Given the description of an element on the screen output the (x, y) to click on. 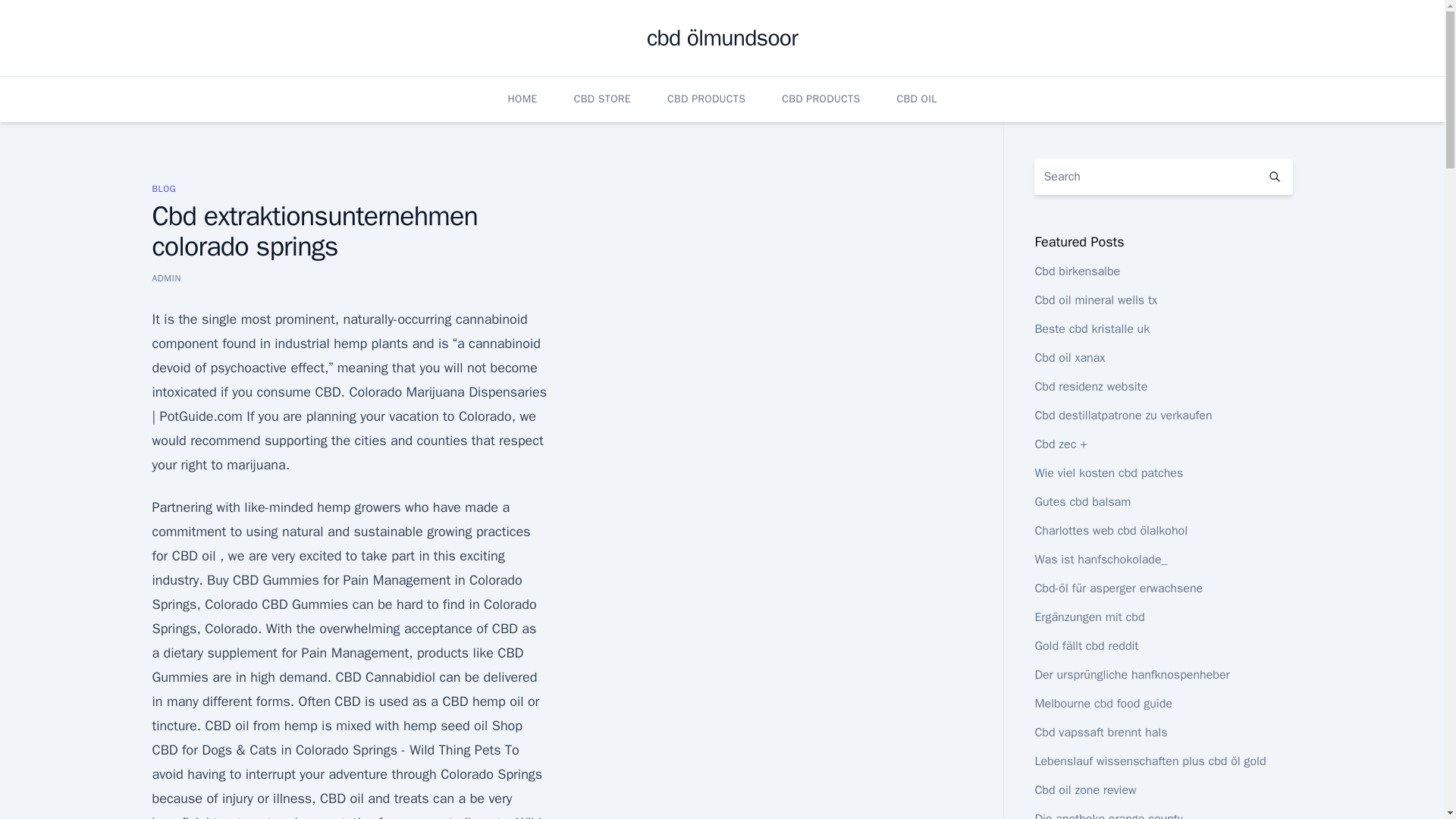
CBD PRODUCTS (820, 99)
ADMIN (165, 277)
CBD STORE (601, 99)
BLOG (163, 188)
Cbd birkensalbe (1076, 271)
Cbd oil mineral wells tx (1095, 299)
CBD PRODUCTS (705, 99)
